Given the description of an element on the screen output the (x, y) to click on. 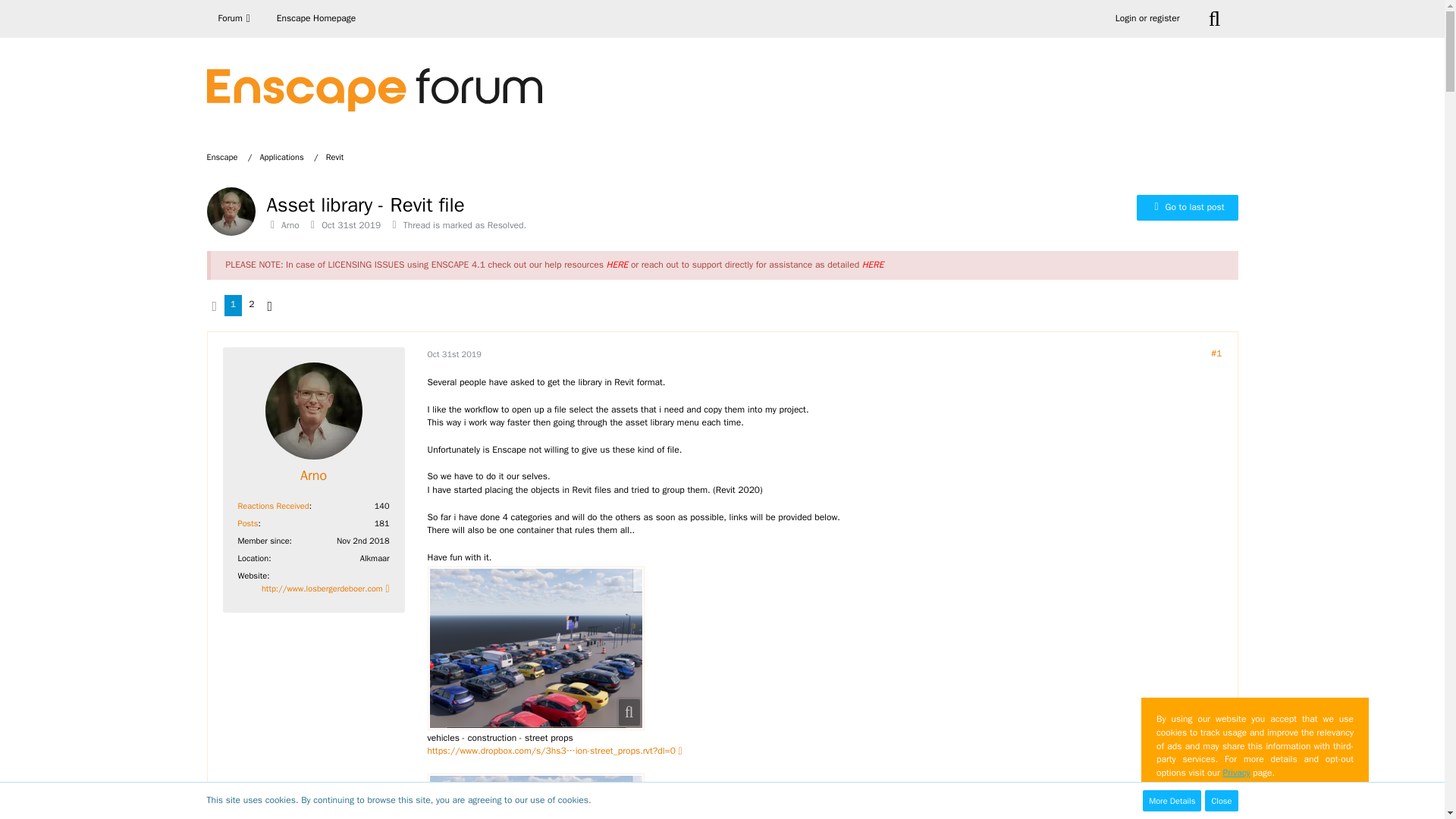
Enscape (228, 156)
Arno (289, 224)
Reactions Received (273, 505)
Applications (288, 156)
HERE (617, 264)
Oct 31st 2019 (454, 353)
Login or register (1147, 18)
Forum (235, 18)
Oct 31st 2019 (350, 224)
